Given the description of an element on the screen output the (x, y) to click on. 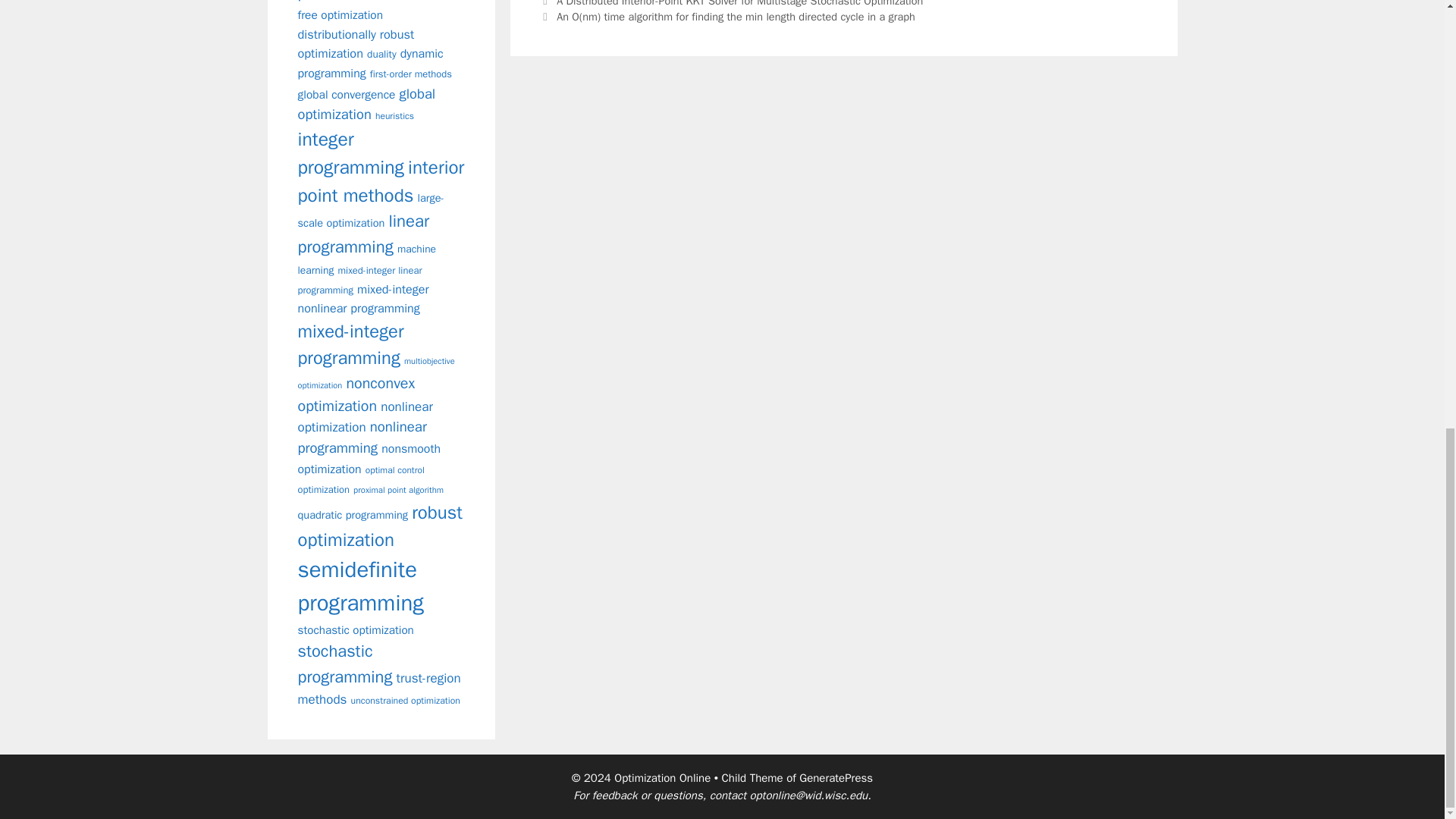
Previous (731, 3)
Next (727, 16)
